Given the description of an element on the screen output the (x, y) to click on. 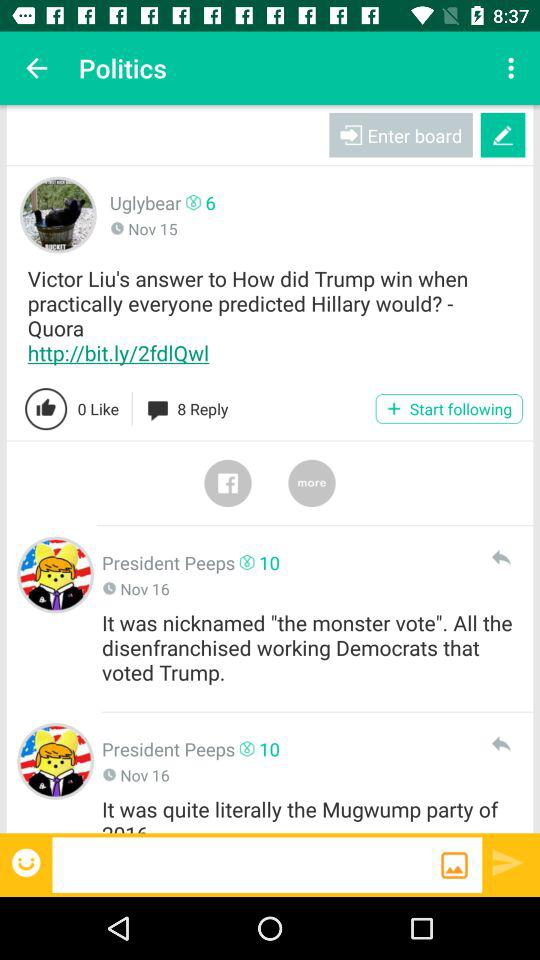
open profile picture (55, 761)
